Given the description of an element on the screen output the (x, y) to click on. 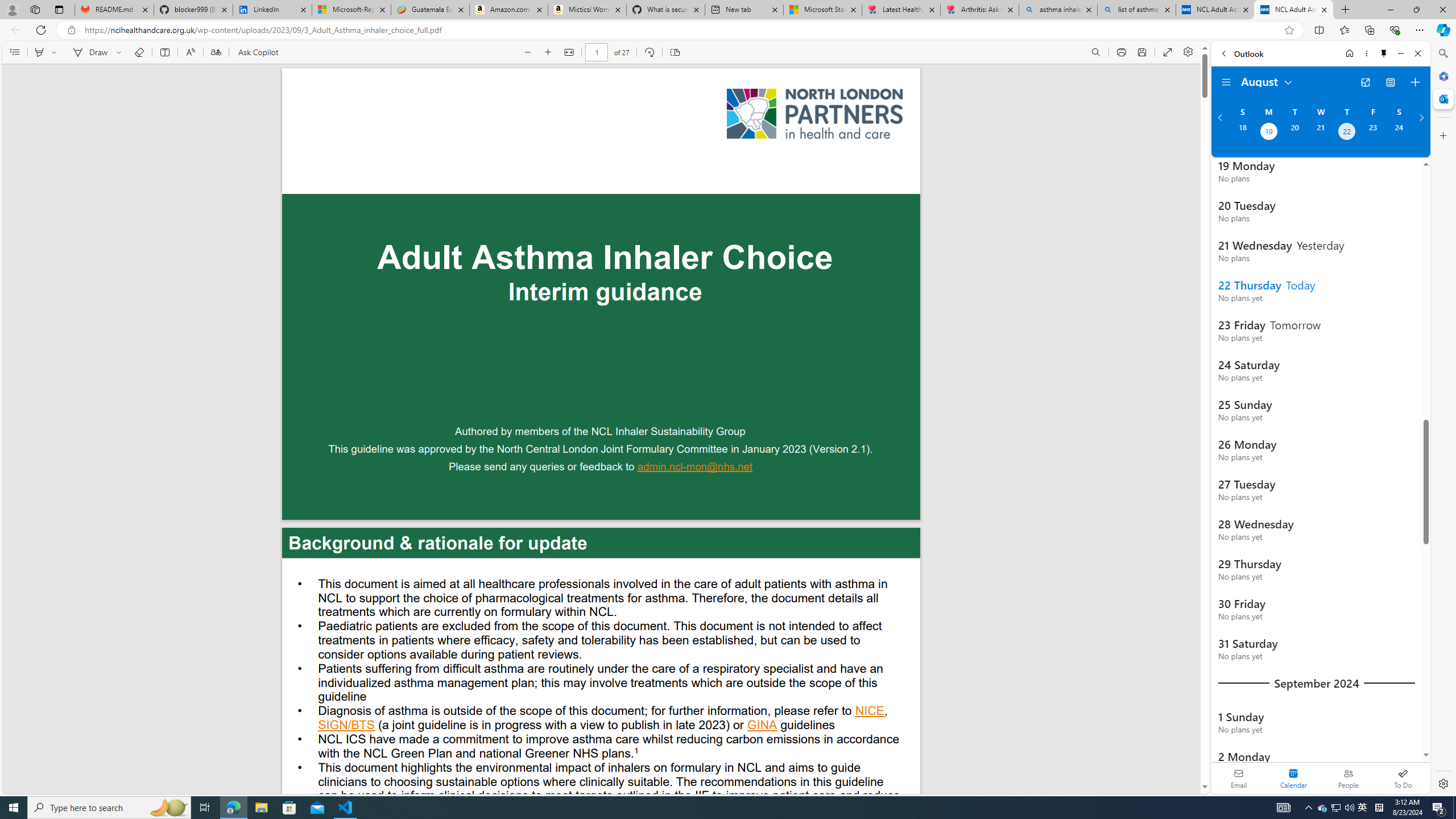
Read aloud (189, 52)
Translate (215, 52)
Print (Ctrl+P) (1121, 52)
Draw (88, 52)
NICE (870, 711)
Sunday, August 18, 2024.  (1242, 132)
Open in new tab (1365, 82)
Settings and more (1187, 52)
